Given the description of an element on the screen output the (x, y) to click on. 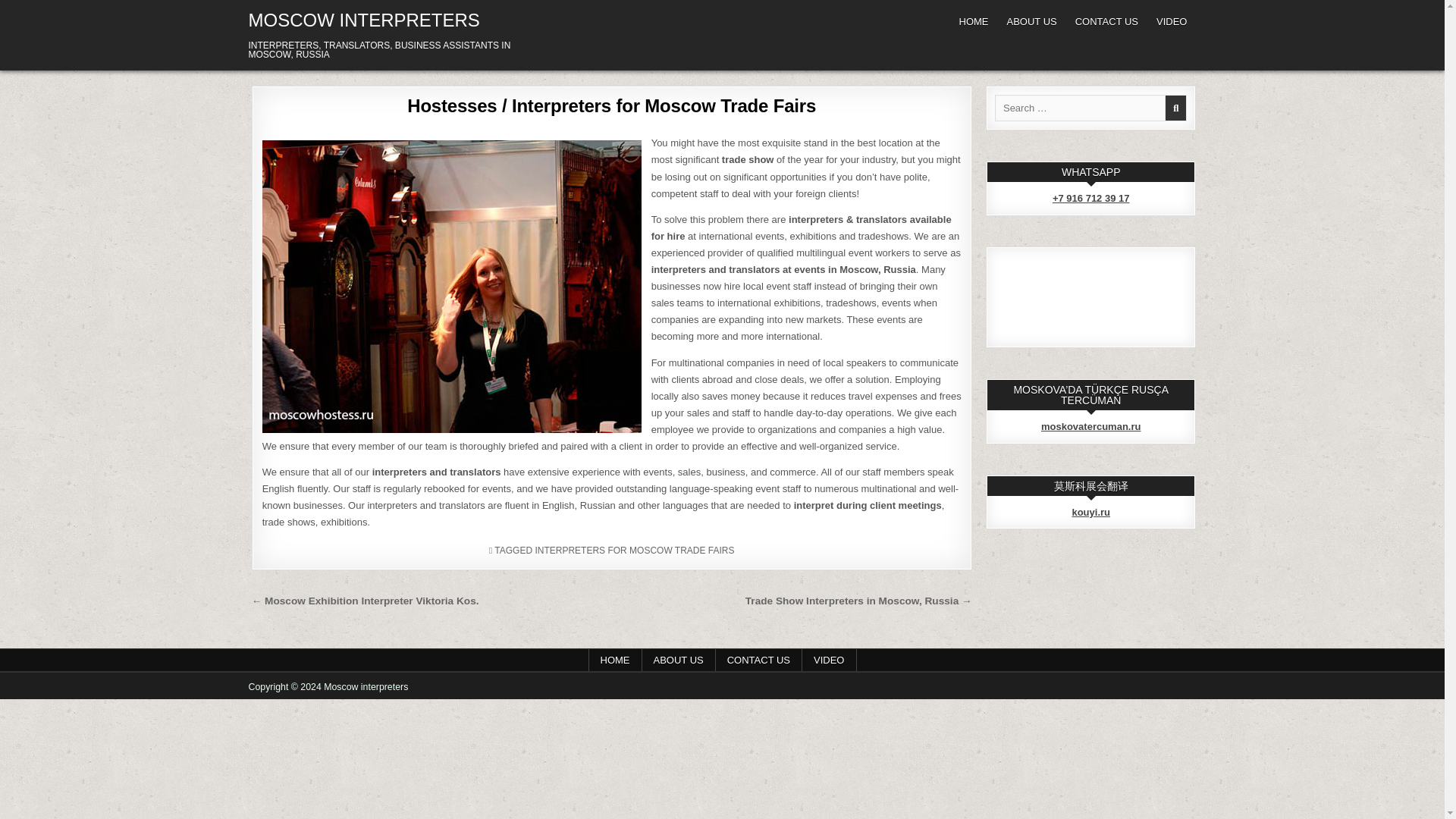
VIDEO (1171, 21)
INTERPRETERS FOR MOSCOW TRADE FAIRS (633, 550)
CONTACT US (1106, 21)
MOSCOW INTERPRETERS (364, 19)
ABOUT US (678, 659)
CONTACT US (759, 659)
HOME (973, 21)
ABOUT US (1031, 21)
kouyi.ru (1090, 511)
VIDEO (829, 659)
moskovatercuman.ru (1091, 426)
HOME (615, 659)
